Given the description of an element on the screen output the (x, y) to click on. 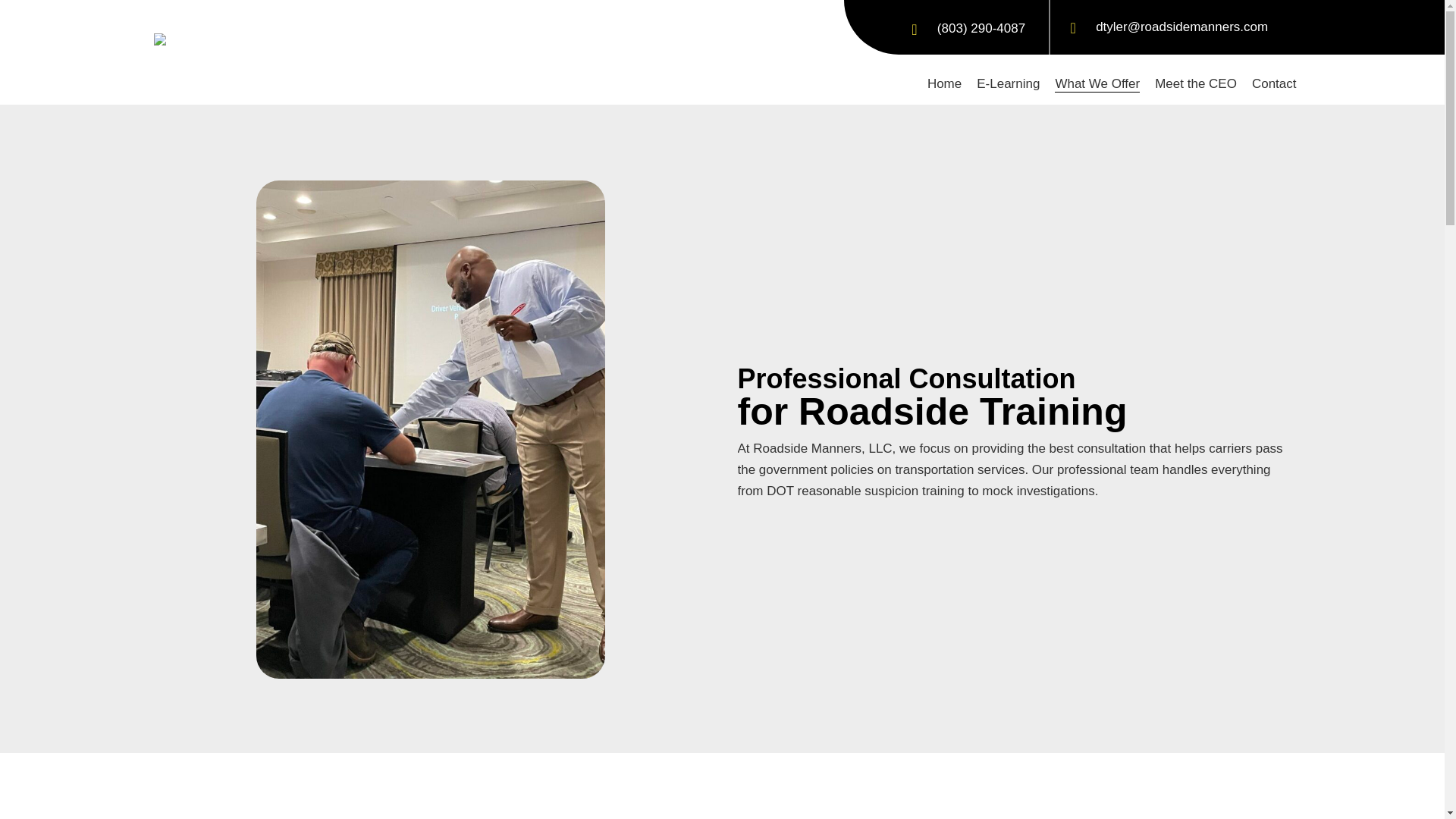
Home (943, 84)
Roadside Manners, LLC (228, 39)
What We Offer (1097, 84)
Meet the CEO (1195, 84)
E-Learning (1007, 84)
Contact (1274, 84)
